Given the description of an element on the screen output the (x, y) to click on. 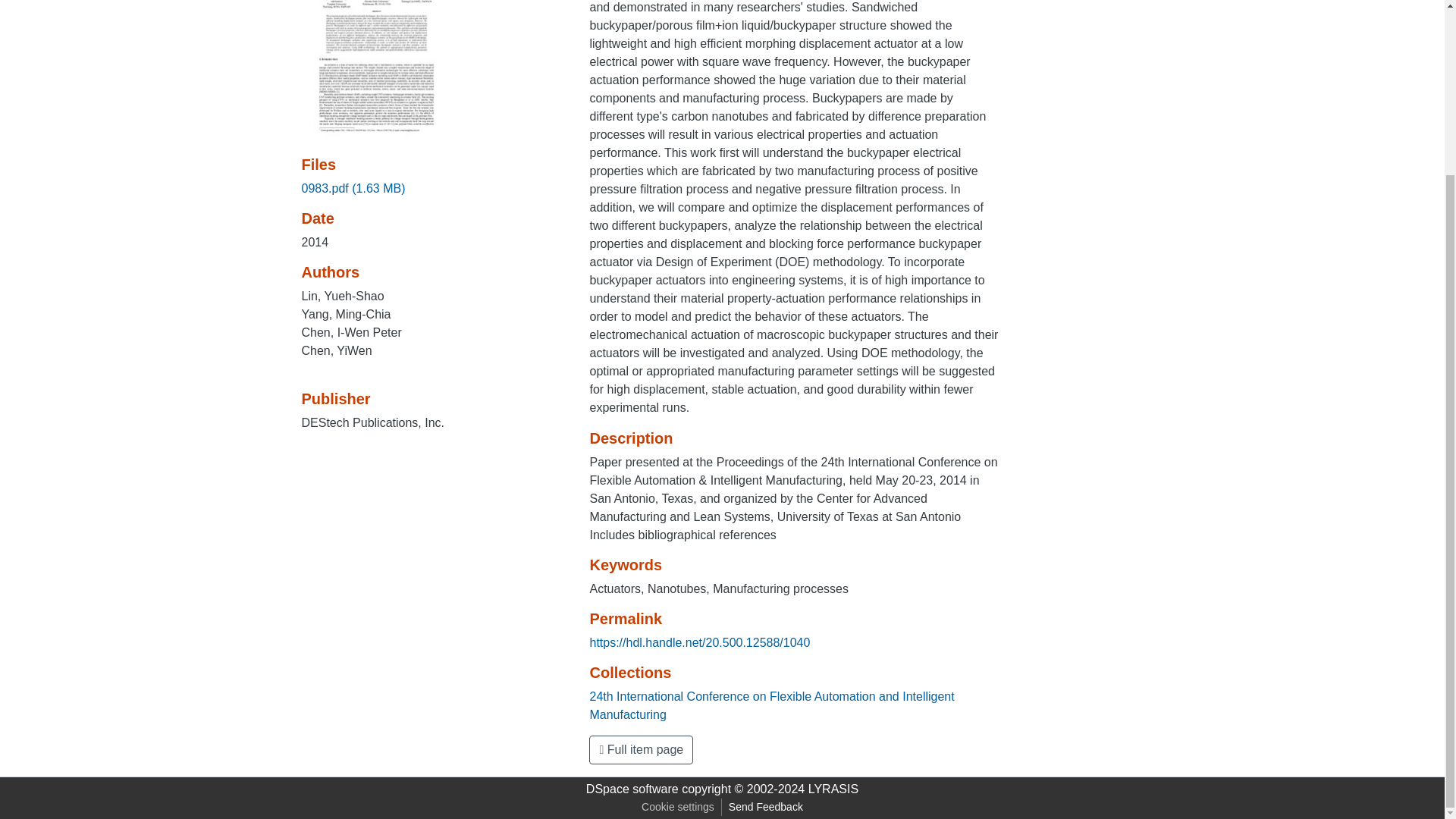
DSpace software (632, 788)
Cookie settings (677, 806)
Send Feedback (765, 806)
Full item page (641, 749)
LYRASIS (833, 788)
